Given the description of an element on the screen output the (x, y) to click on. 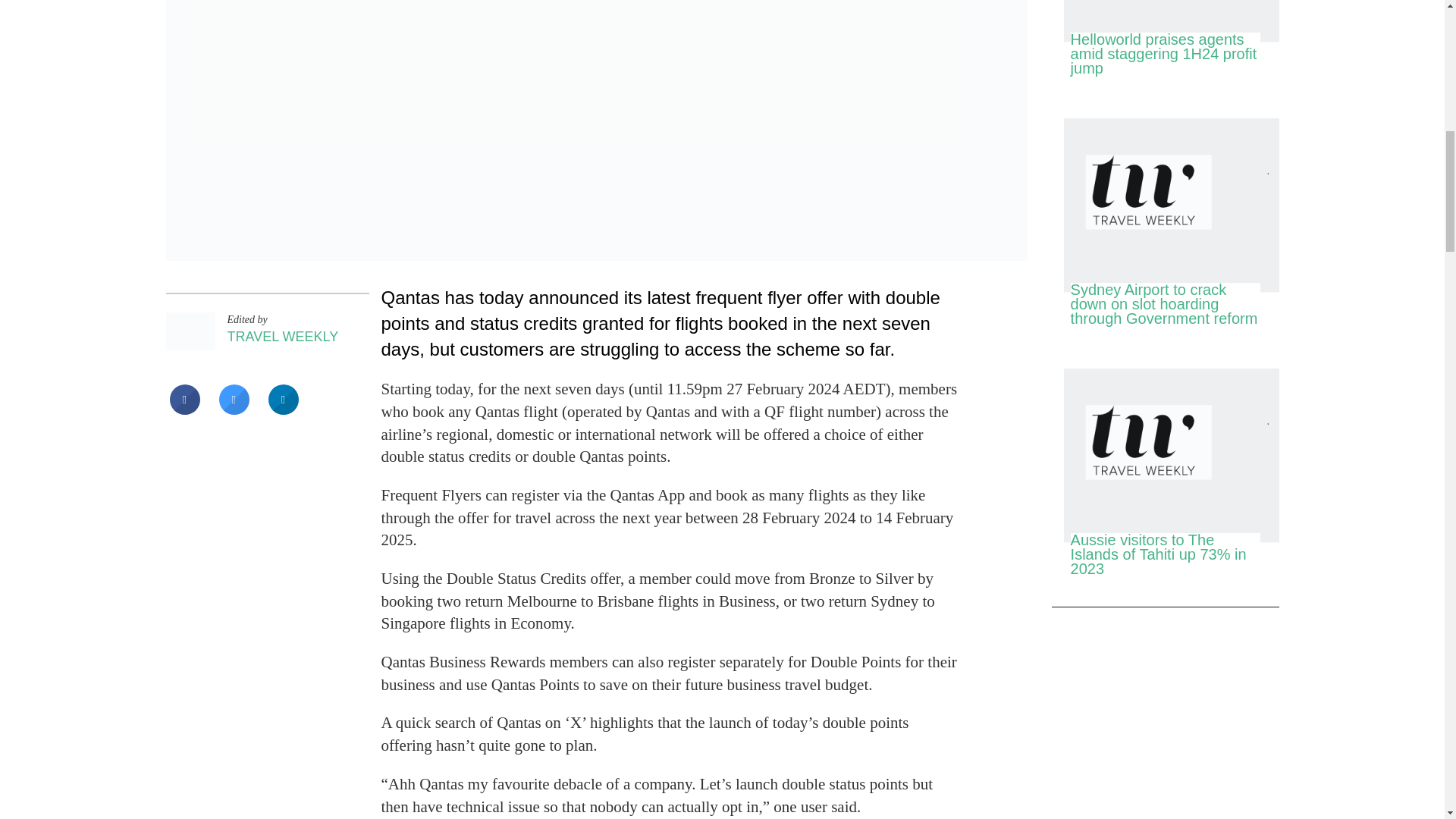
Share to LinkedIn (282, 410)
Share on Twitter (233, 410)
Share on Facebook (185, 410)
